Given the description of an element on the screen output the (x, y) to click on. 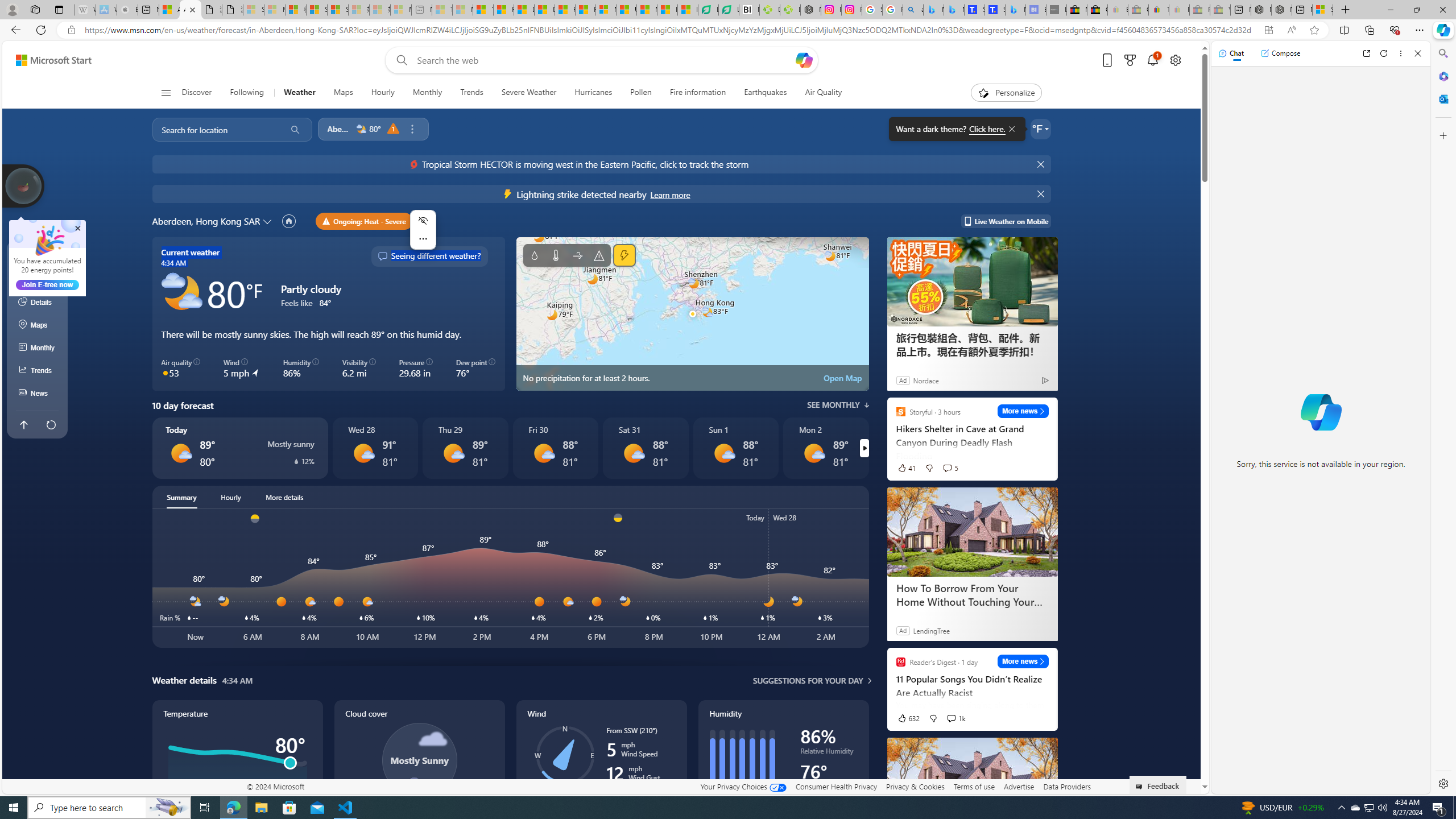
Lightning (623, 254)
Dew point (828, 788)
Humidity 86% (301, 368)
Partly cloudy (181, 292)
Pressure 29.68 in (415, 368)
Food and Drink - MSN (503, 9)
Refresh this page (50, 424)
Nvidia va a poner a prueba la paciencia de los inversores (748, 9)
Open Map (842, 377)
